Given the description of an element on the screen output the (x, y) to click on. 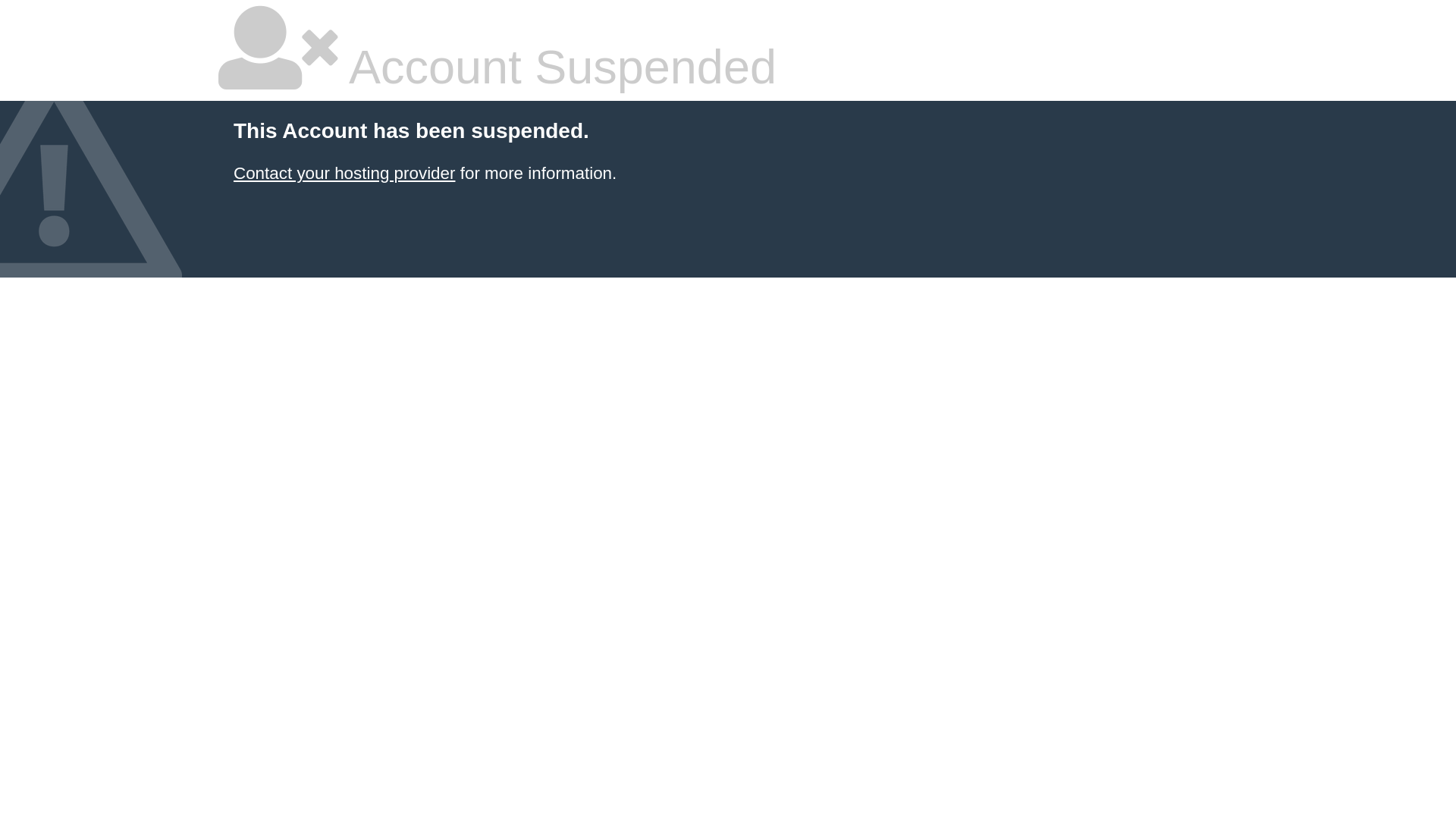
Contact your hosting provider Element type: text (344, 172)
